Given the description of an element on the screen output the (x, y) to click on. 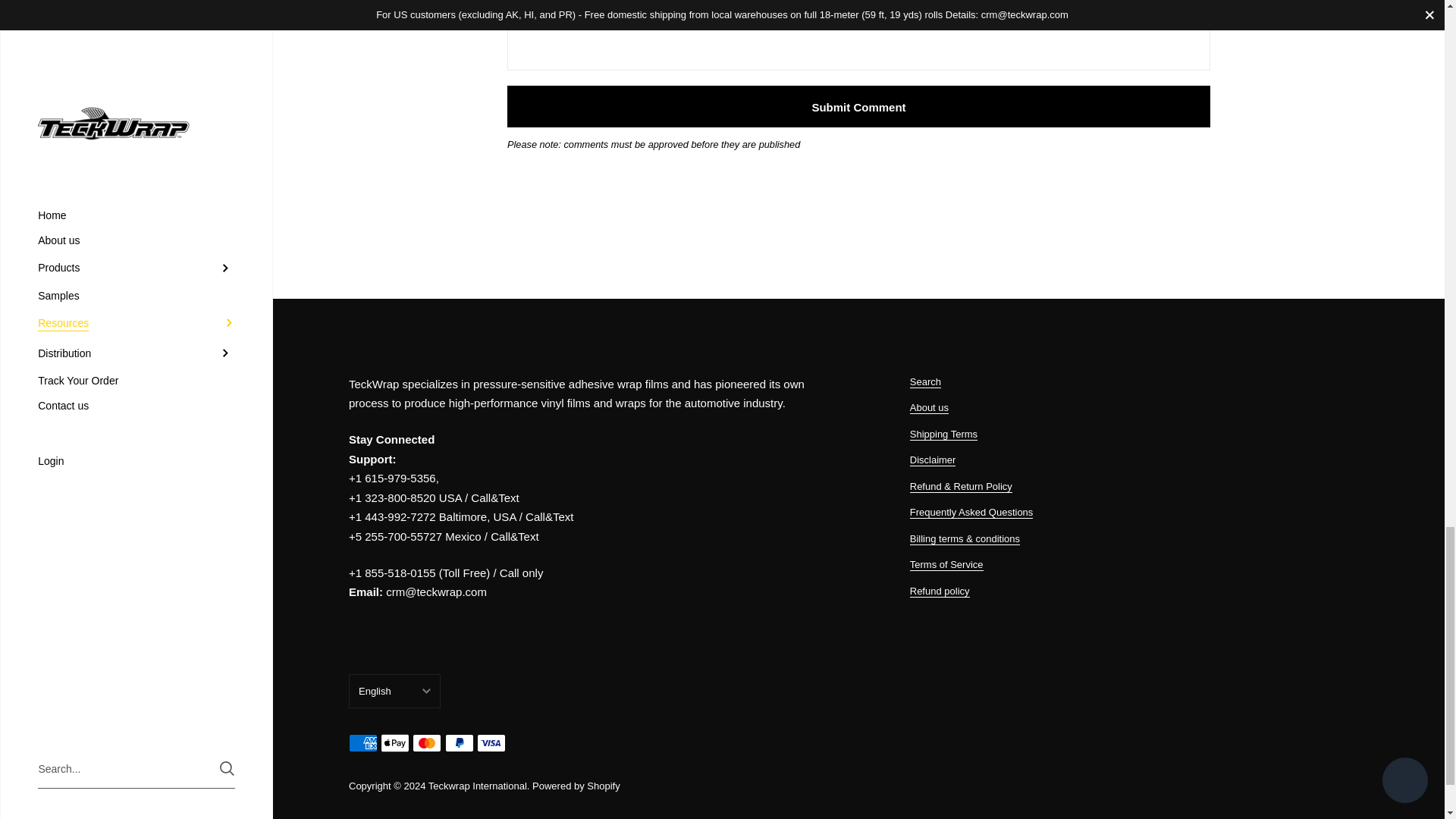
PayPal (459, 742)
American Express (363, 742)
Mastercard (426, 742)
Visa (491, 742)
Submit Comment (857, 106)
Apple Pay (394, 742)
